Given the description of an element on the screen output the (x, y) to click on. 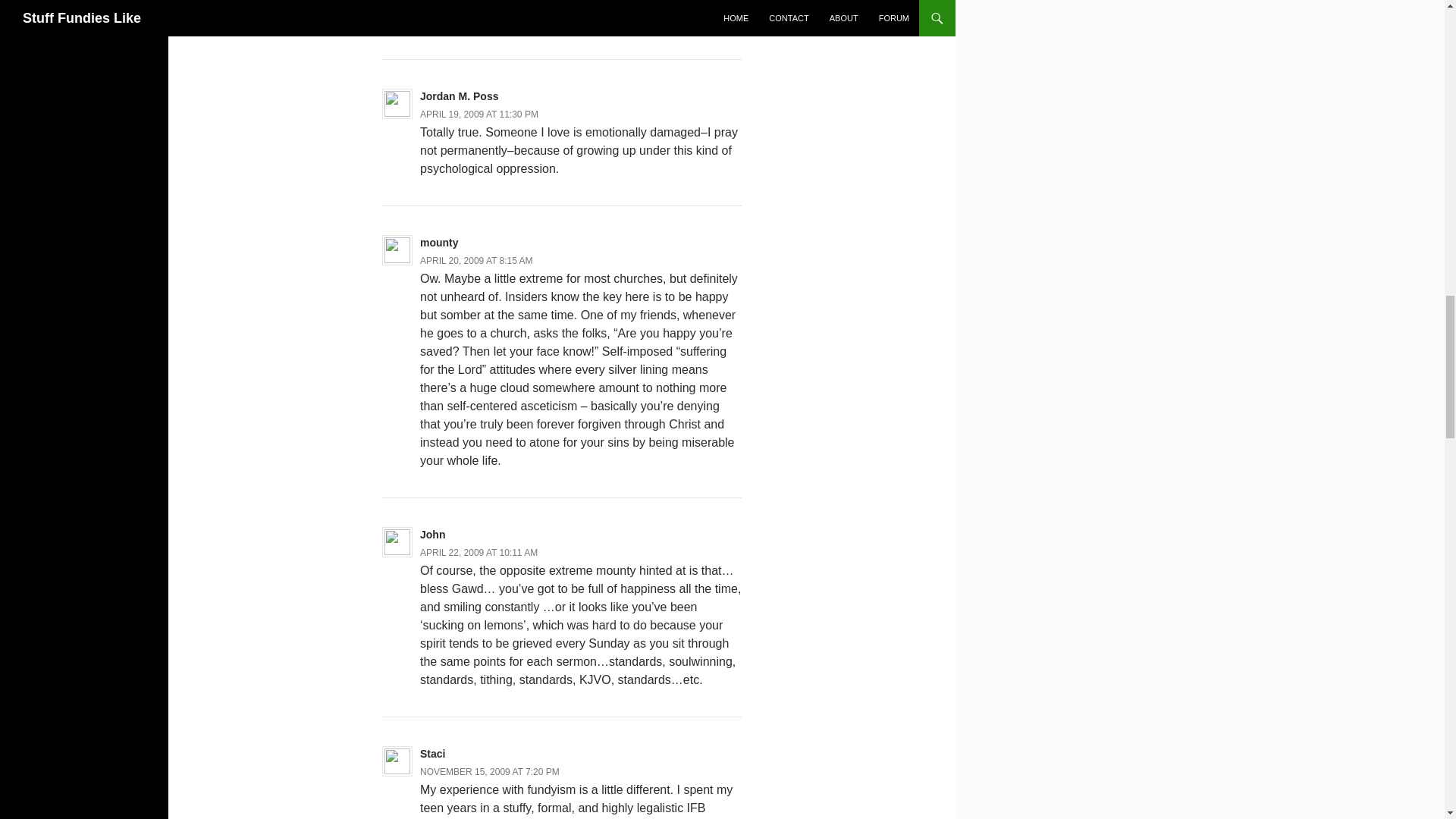
NOVEMBER 15, 2009 AT 7:20 PM (489, 771)
APRIL 20, 2009 AT 8:15 AM (476, 260)
APRIL 22, 2009 AT 10:11 AM (478, 552)
Jordan M. Poss (458, 96)
APRIL 19, 2009 AT 11:30 PM (479, 113)
